Given the description of an element on the screen output the (x, y) to click on. 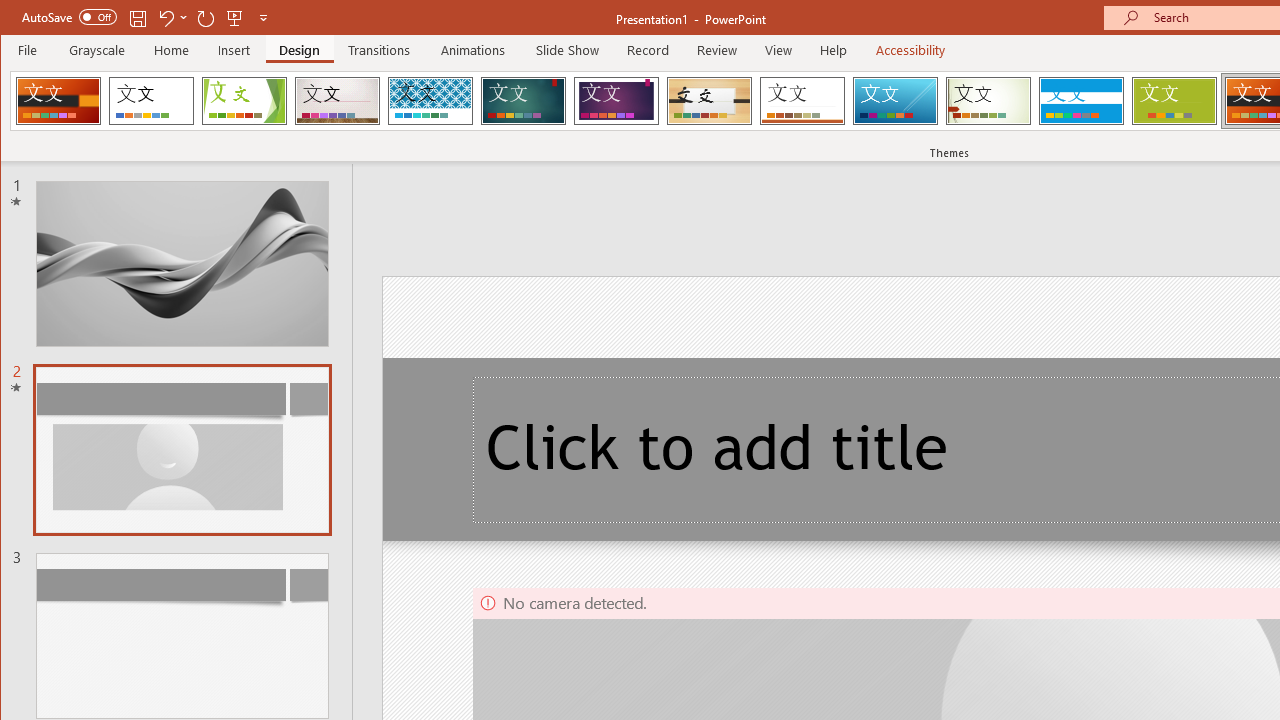
Slice (895, 100)
Organic (709, 100)
Retrospect (802, 100)
